Given the description of an element on the screen output the (x, y) to click on. 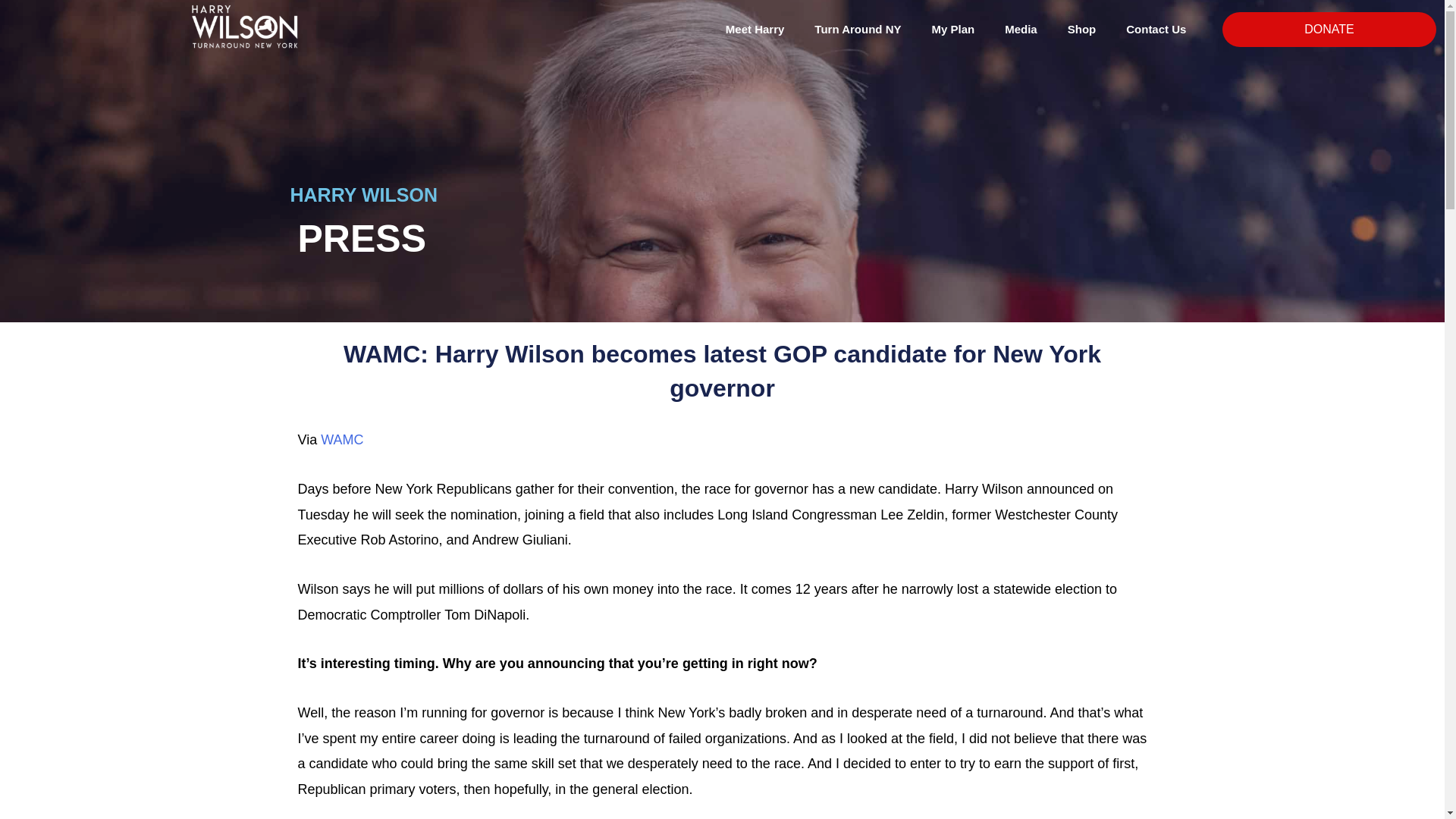
Contact Us (1155, 29)
Shop (1082, 29)
WAMC (341, 439)
Turn Around NY (857, 29)
Meet Harry (754, 29)
My Plan (953, 29)
Media (1021, 29)
DONATE (1329, 29)
